Given the description of an element on the screen output the (x, y) to click on. 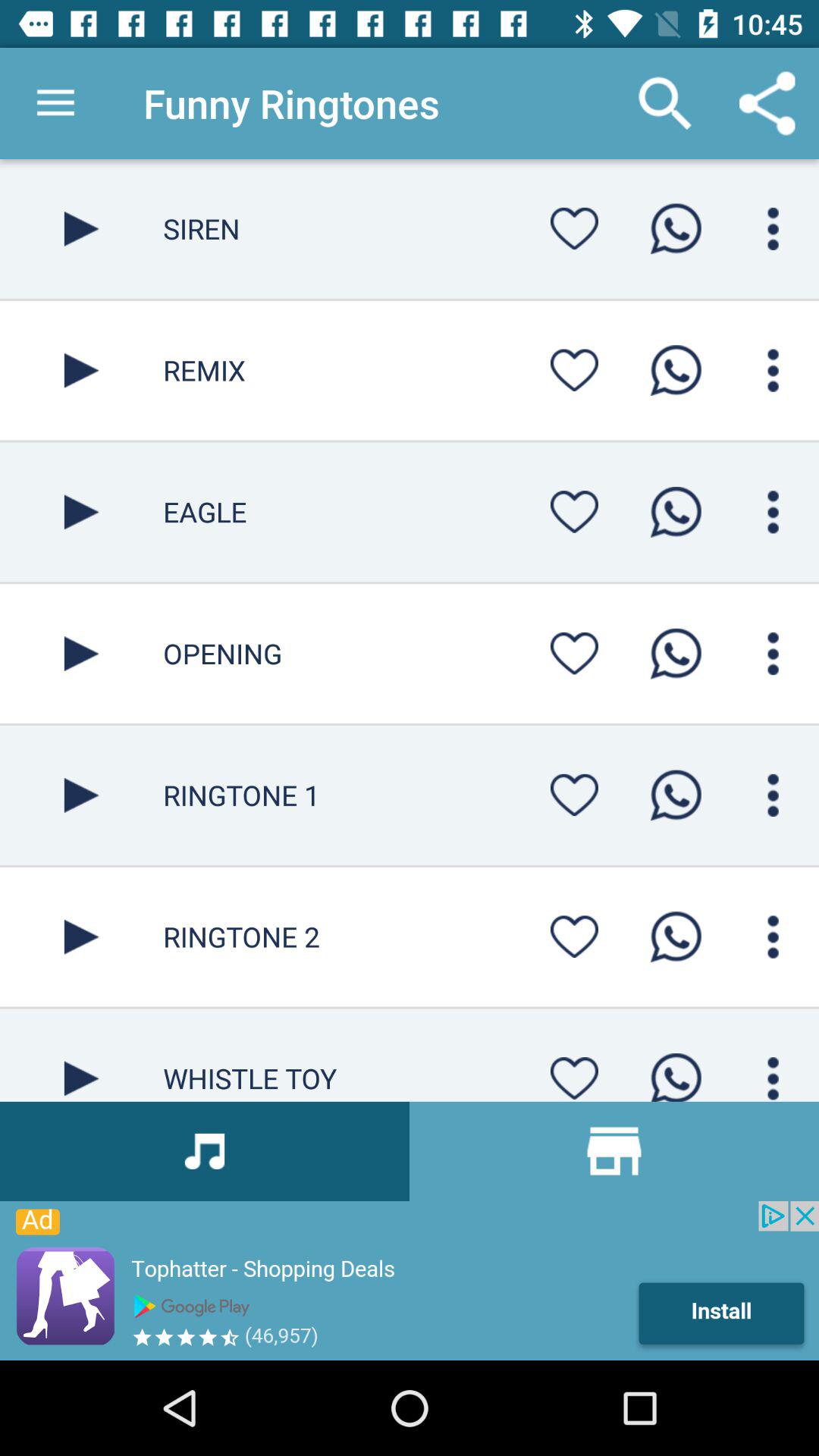
like (574, 653)
